Given the description of an element on the screen output the (x, y) to click on. 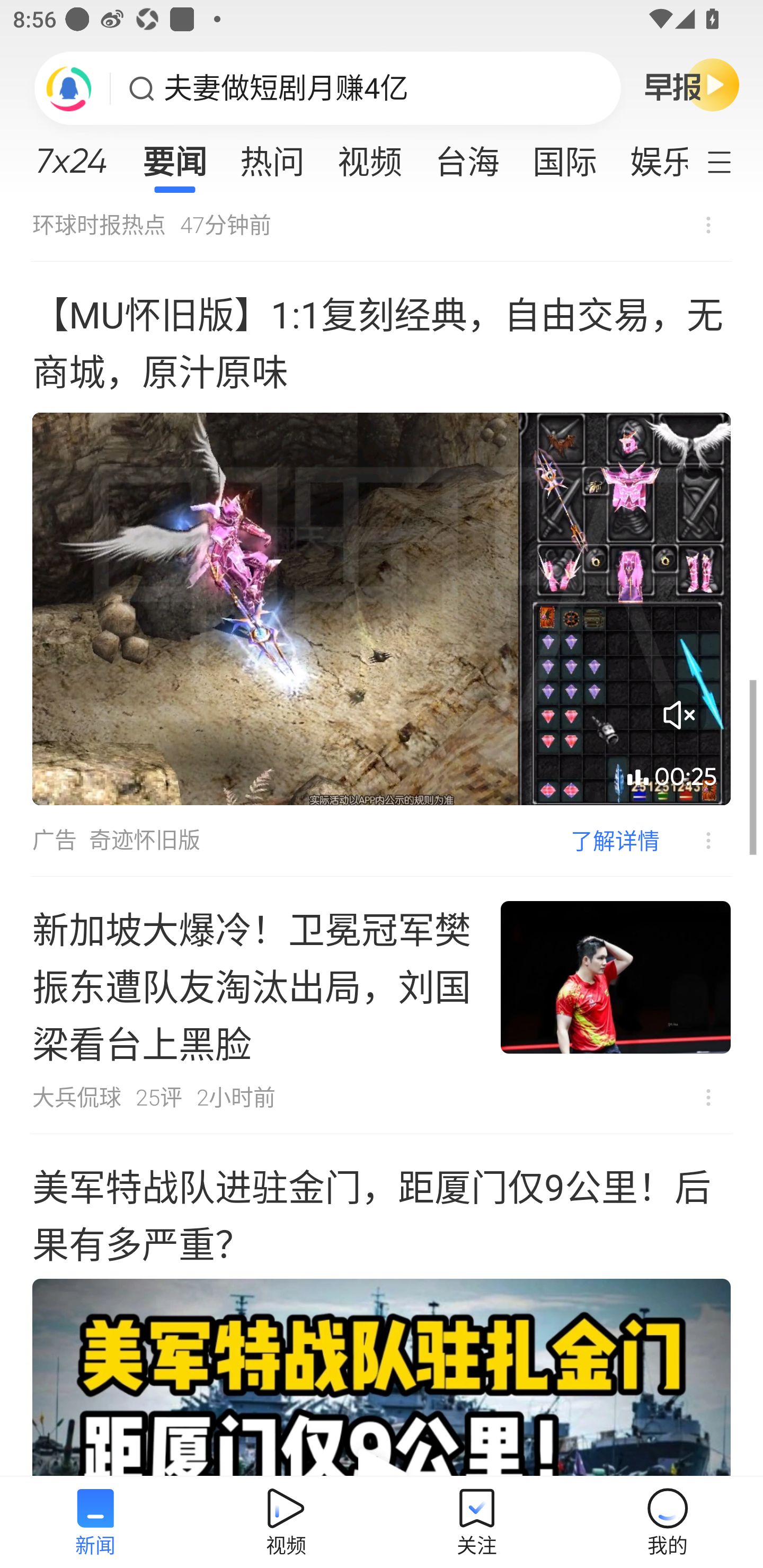
早晚报 (691, 84)
刷新 (68, 88)
夫妻做短剧月赚4亿 (286, 88)
7x24 (70, 154)
要闻 (174, 155)
热问 (272, 155)
视频 (369, 155)
台海 (466, 155)
国际 (564, 155)
娱乐 (650, 155)
 定制频道 (731, 160)
环球时报热点 47分钟前  不感兴趣 (381, 229)
 不感兴趣 (707, 224)
00:26 音量开关 (381, 608)
音量开关 (678, 714)
 不感兴趣 (694, 840)
了解详情 (614, 840)
广告 (54, 839)
奇迹怀旧版 (144, 839)
 不感兴趣 (707, 1097)
美军特战队进驻金门，距厦门仅9公里！后果有多严重？ (381, 1305)
